Given the description of an element on the screen output the (x, y) to click on. 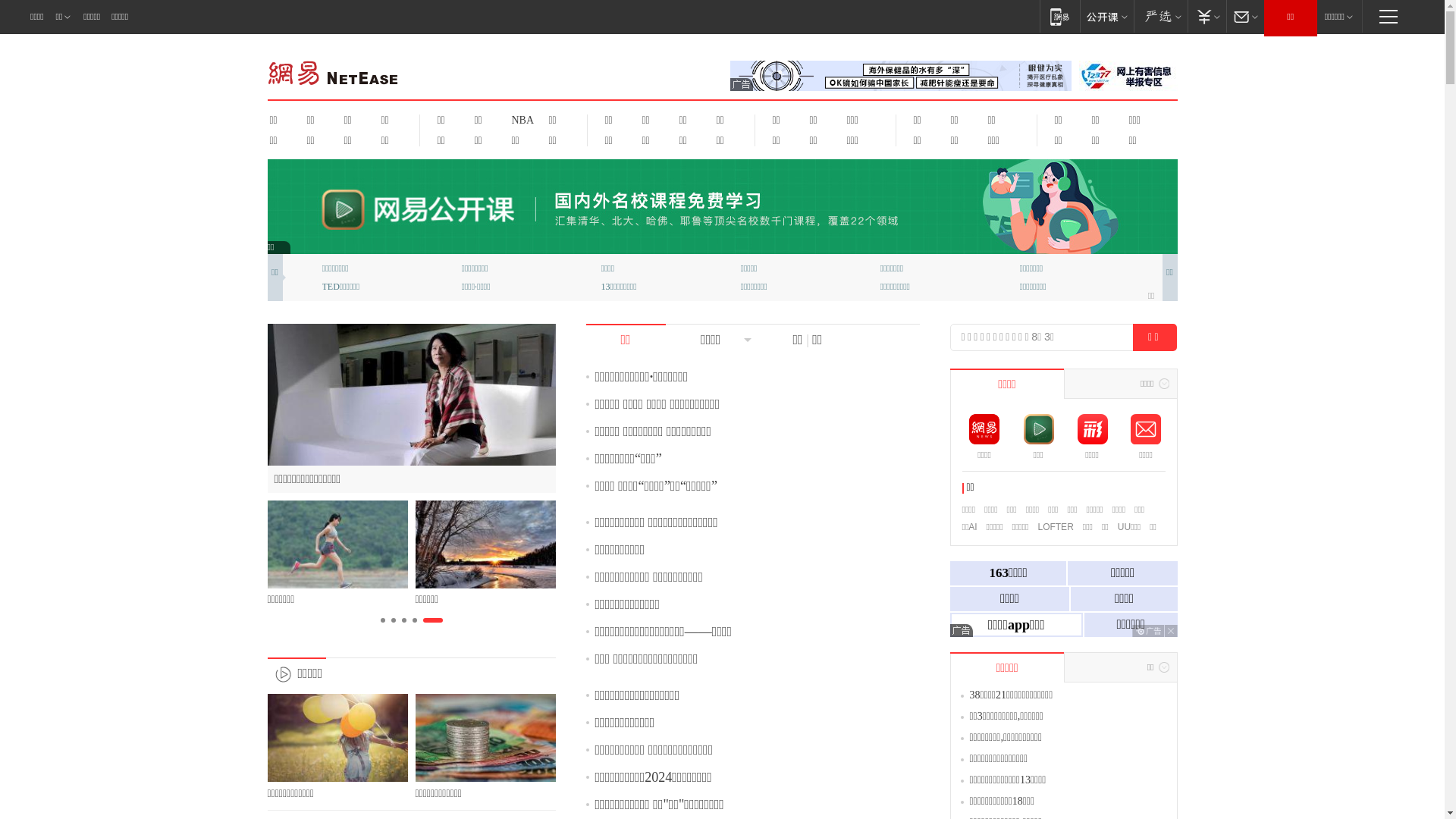
LOFTER Element type: text (1055, 526)
NBA Element type: text (520, 119)
